Given the description of an element on the screen output the (x, y) to click on. 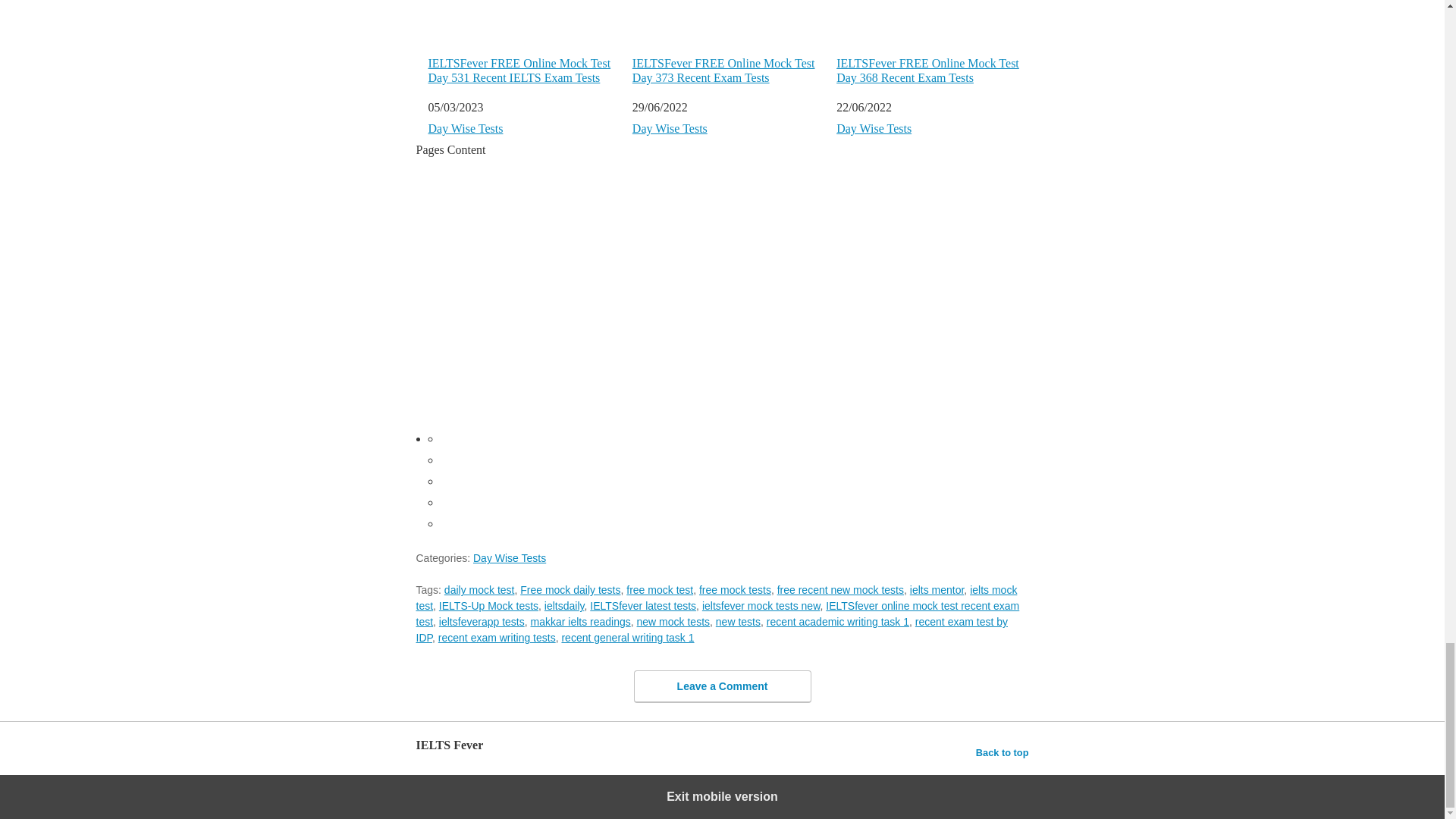
free recent new mock tests (840, 589)
ielts mentor (936, 589)
free mock test (659, 589)
ieltsdaily (564, 605)
ielts mock test (715, 597)
recent exam writing tests (497, 637)
ieltsfever mock tests new (761, 605)
recent exam test by IDP (710, 629)
ieltsfeverapp tests (481, 621)
